Given the description of an element on the screen output the (x, y) to click on. 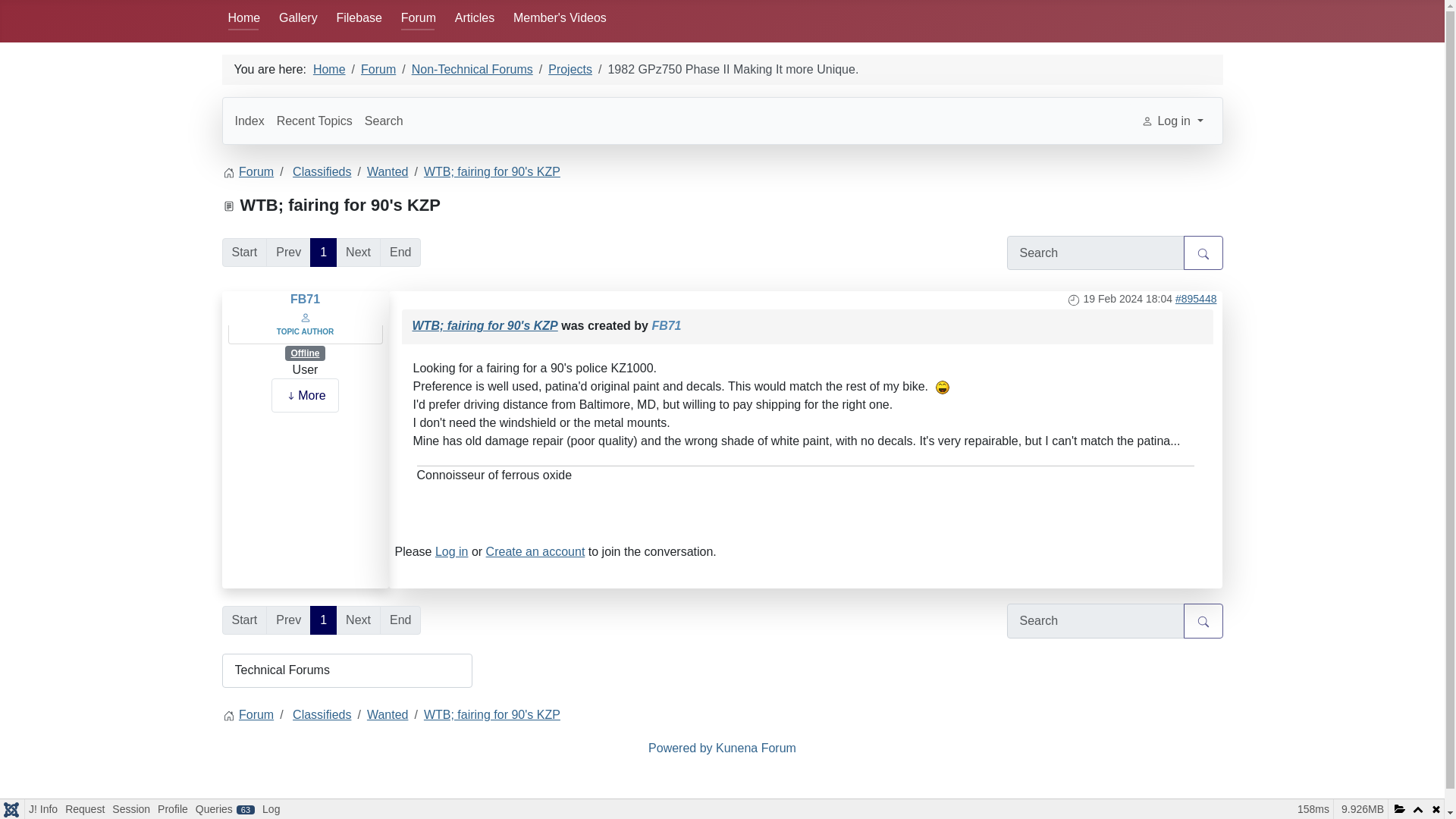
Non-Technical Forums (472, 69)
Forum (418, 17)
Projects (570, 69)
Enter here your item to search (1096, 620)
Home (329, 69)
FB71's Avatar (305, 316)
Home (243, 17)
Articles (474, 17)
Filebase (358, 17)
Member's Videos (560, 17)
